Given the description of an element on the screen output the (x, y) to click on. 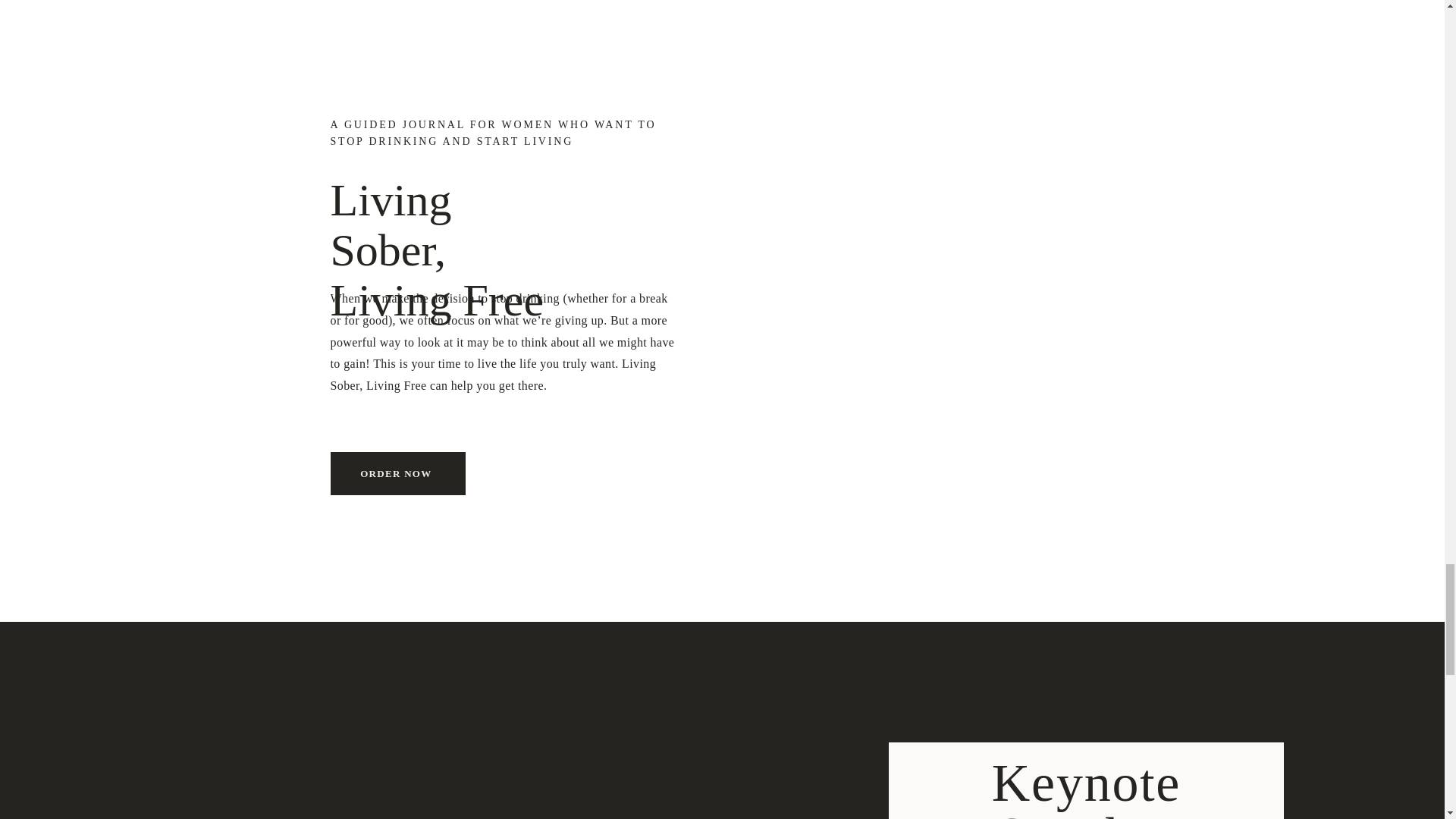
Living Sober, Living Free (451, 223)
ORDER NOW  (397, 474)
